Given the description of an element on the screen output the (x, y) to click on. 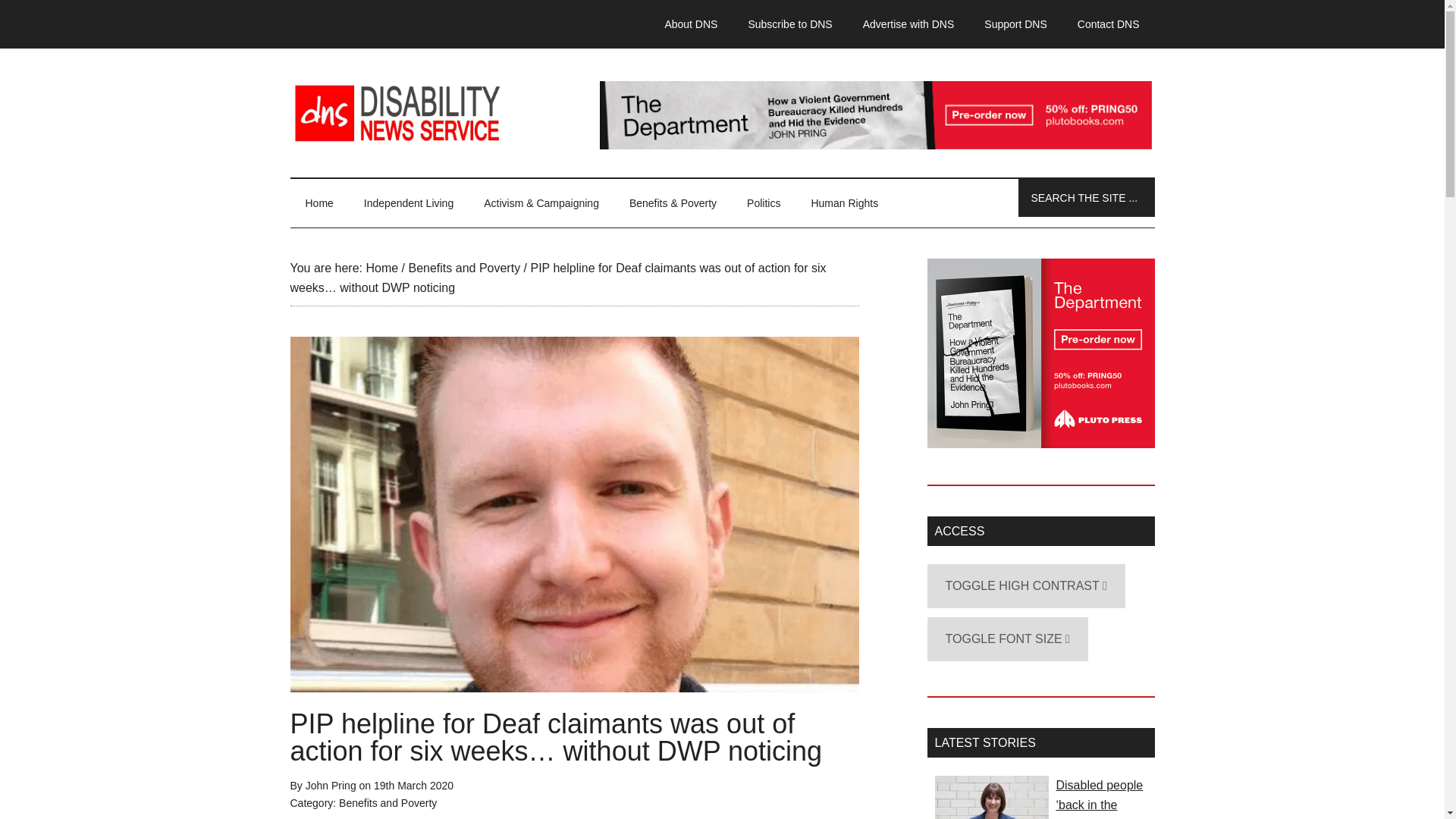
Benefits and Poverty (387, 802)
Home (318, 203)
Disability News Service (721, 112)
Human Rights (843, 203)
Advertise with DNS (908, 24)
John Pring (330, 785)
Independent Living (408, 203)
Support DNS (1015, 24)
